Given the description of an element on the screen output the (x, y) to click on. 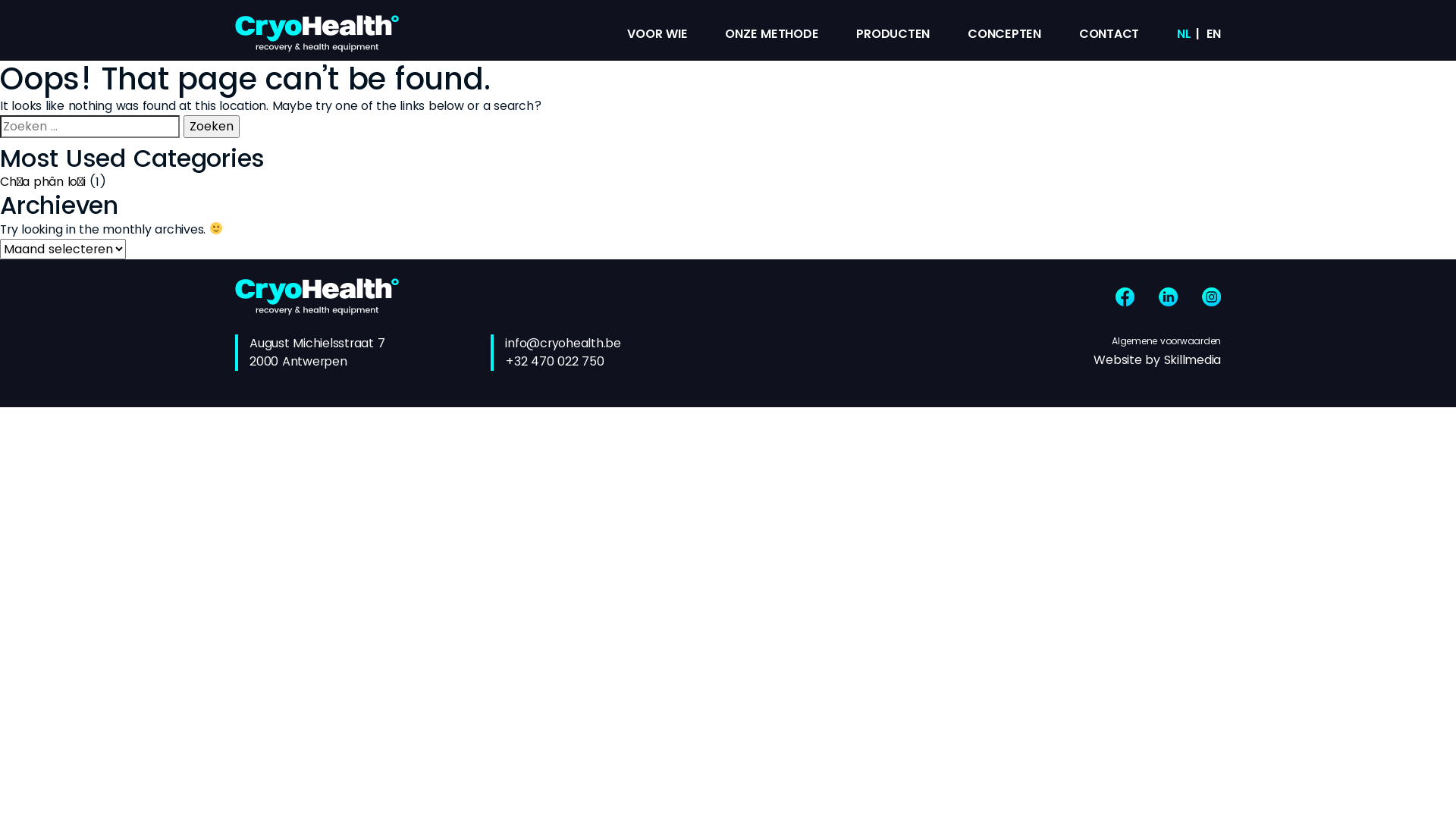
Skillmedia Element type: text (1191, 359)
PRODUCTEN Element type: text (892, 33)
ONZE METHODE Element type: text (771, 33)
CONCEPTEN Element type: text (1004, 33)
CONTACT Element type: text (1109, 33)
EN Element type: text (1212, 32)
VOOR WIE Element type: text (657, 33)
info@cryohealth.be Element type: text (563, 342)
NL Element type: text (1183, 32)
+32 470 022 750 Element type: text (554, 361)
Zoeken Element type: text (211, 126)
